Given the description of an element on the screen output the (x, y) to click on. 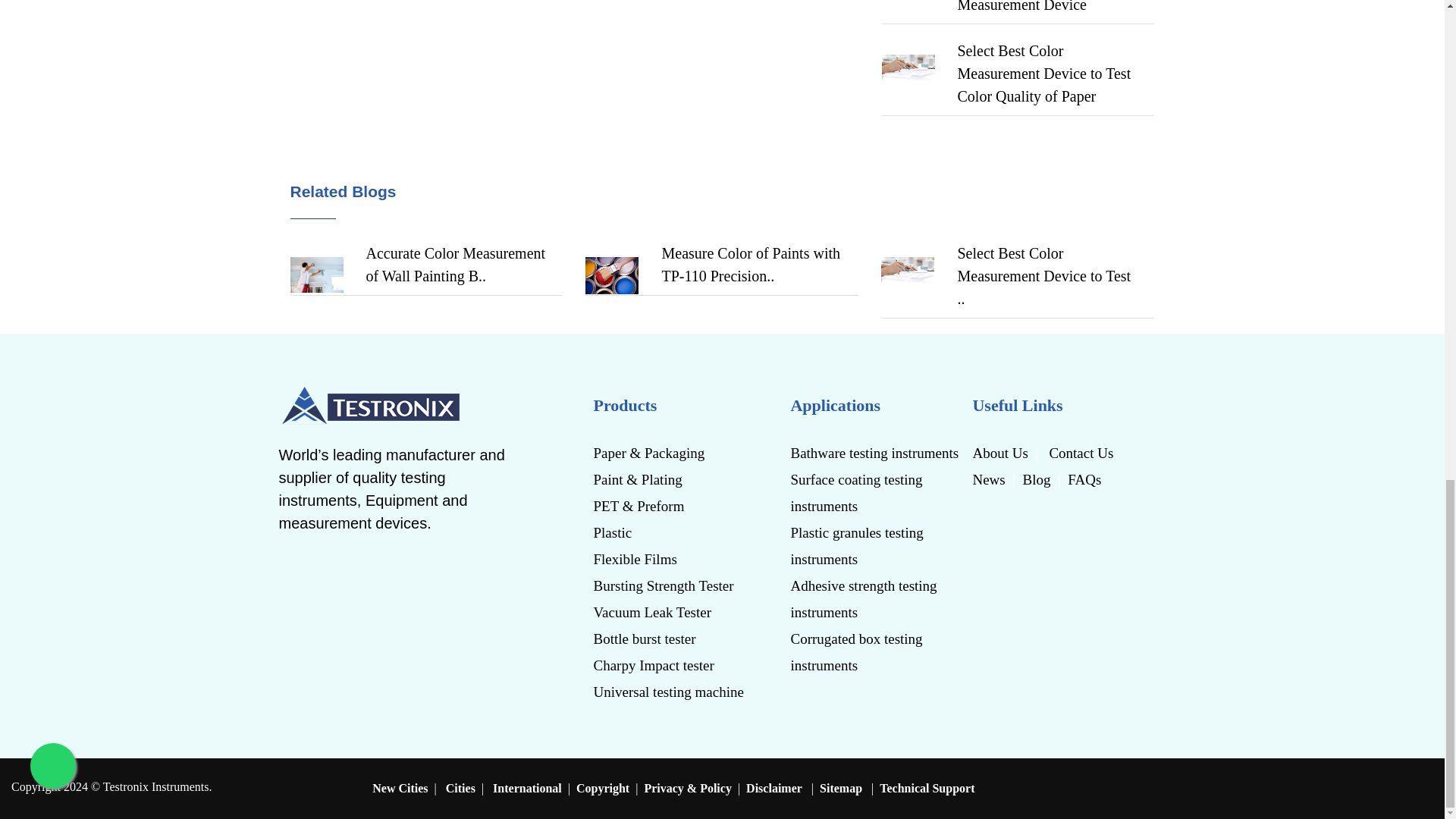
Bottle burst tester (673, 638)
Measure Color of Paints with TP-110 Precision.. (454, 264)
Select Best Color Measurement Device to Test .. (1043, 275)
Applications (875, 405)
Accurate Color Measurement of Wall Painting B.. (751, 264)
Vacuum Leak Tester (673, 611)
Bursting Strength Tester (673, 585)
Flexible Films (673, 559)
Universal testing machine (673, 691)
Bathware testing instruments (875, 452)
Plastic (673, 532)
Charpy Impact tester (673, 664)
